Given the description of an element on the screen output the (x, y) to click on. 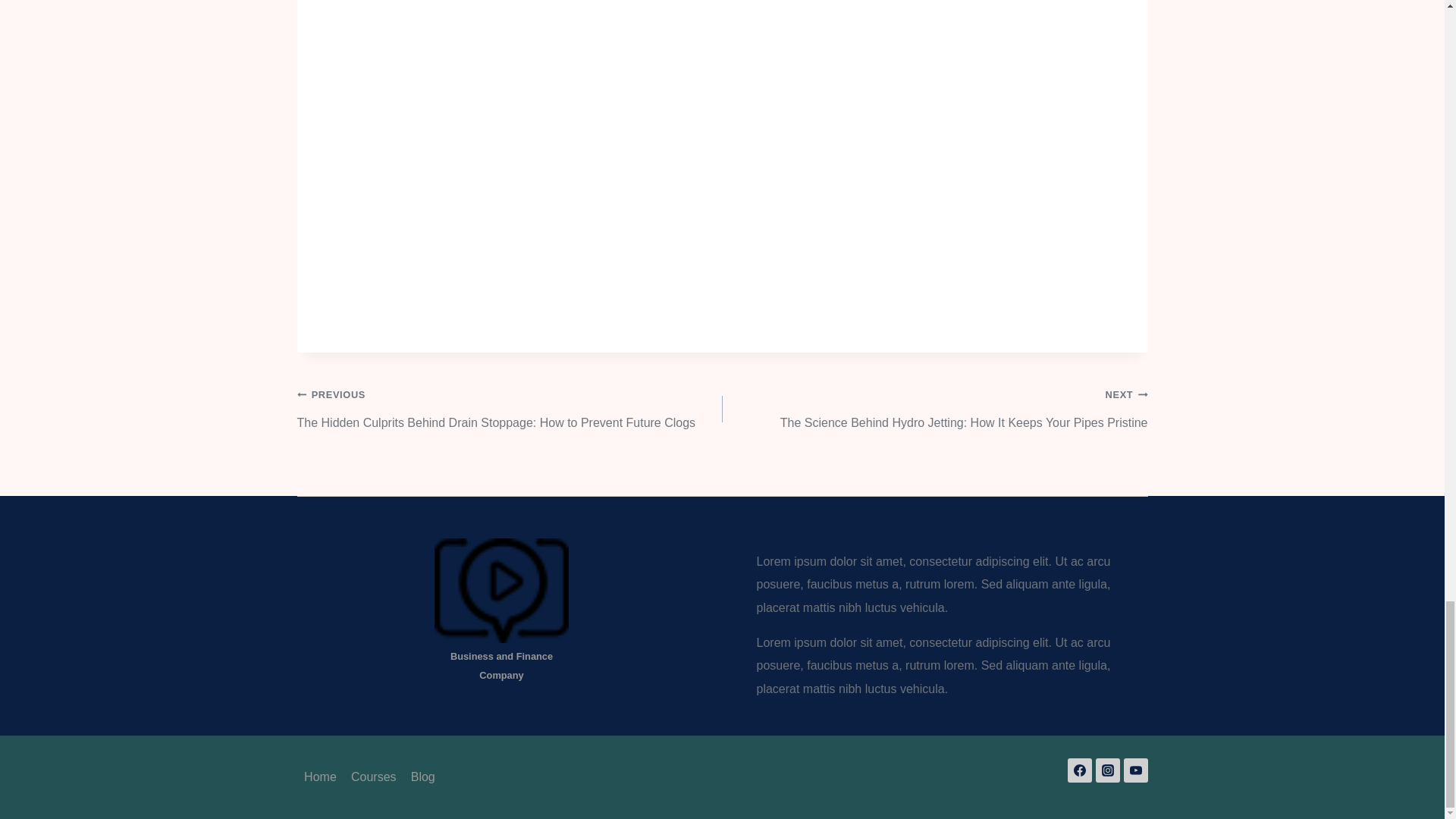
Blog (422, 777)
Home (320, 777)
Courses (373, 777)
